Given the description of an element on the screen output the (x, y) to click on. 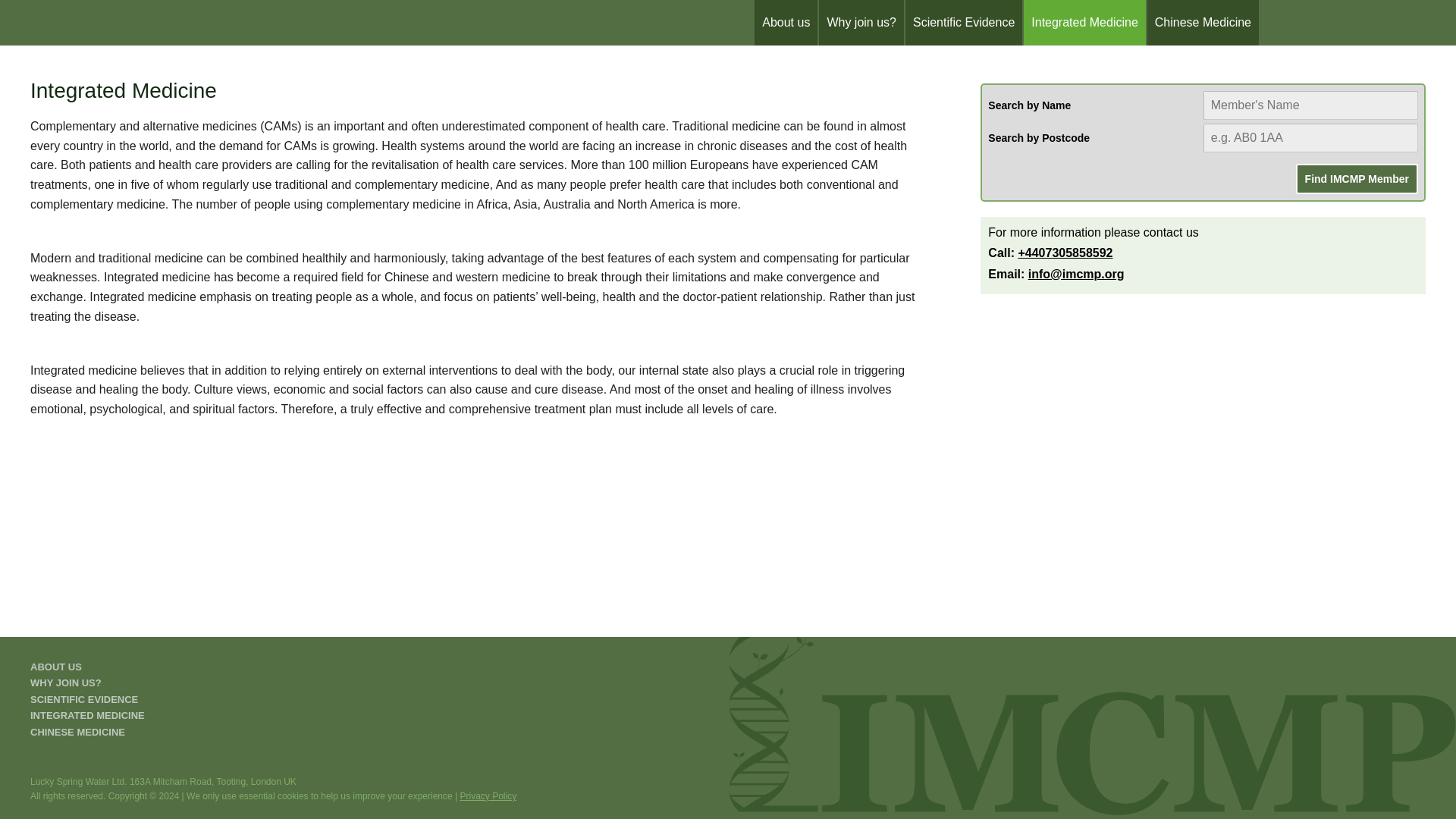
About us (785, 22)
Integrated Medicine (1084, 22)
SCIENTIFIC EVIDENCE (84, 699)
WHY JOIN US? (65, 682)
CHINESE MEDICINE (77, 731)
Privacy Policy (488, 796)
Scientific Evidence (963, 22)
Why join us? (861, 22)
Chinese Medicine (1203, 22)
INTEGRATED MEDICINE (87, 715)
Find IMCMP Member (1356, 178)
ABOUT US (55, 666)
